Given the description of an element on the screen output the (x, y) to click on. 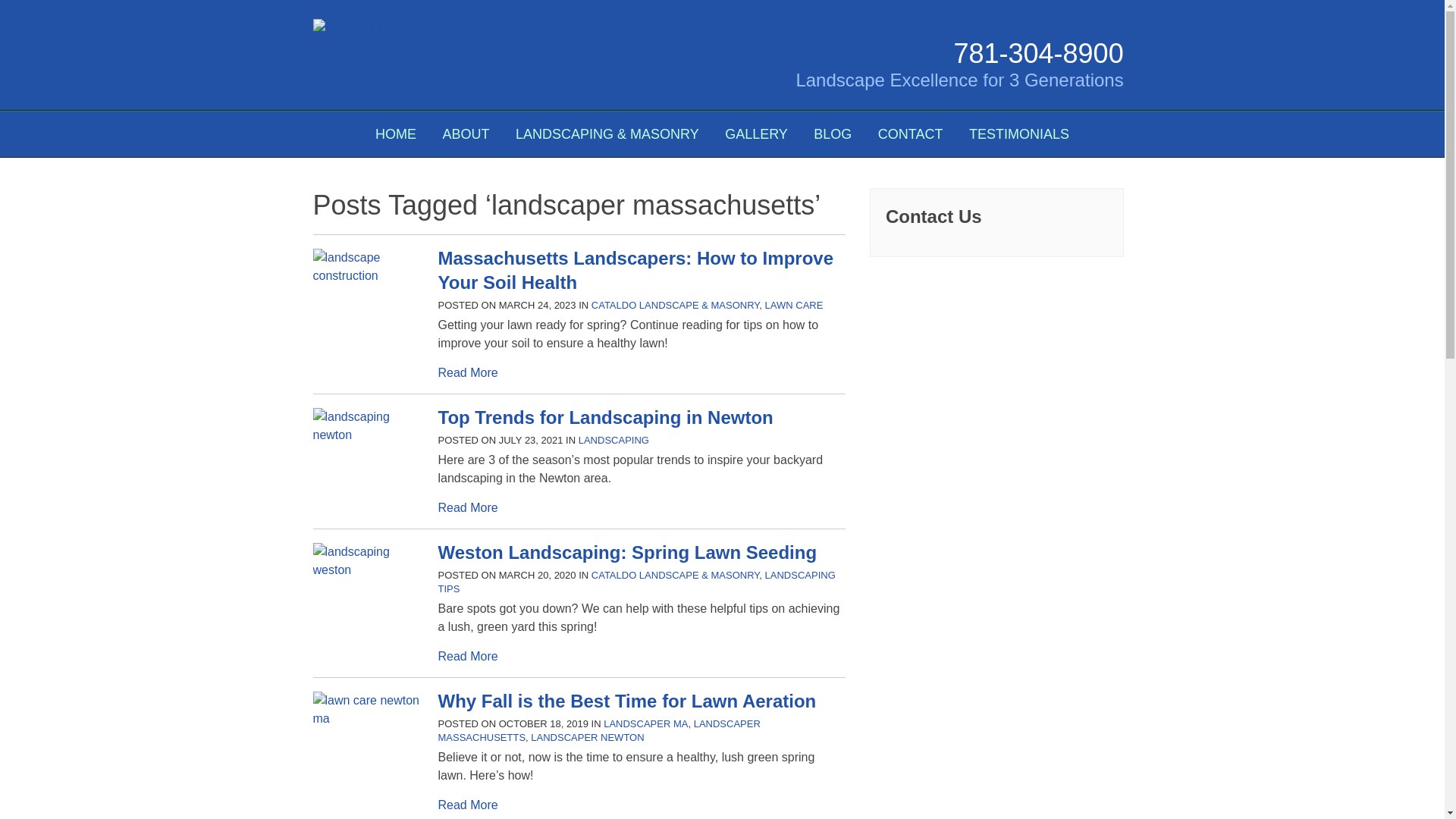
Massachusetts Landscapers: How to Improve Your Soil Health (635, 270)
Top Trends for Landscaping in Newton (605, 417)
GALLERY (756, 134)
LANDSCAPER MA (645, 723)
LANDSCAPER NEWTON (587, 737)
LANDSCAPING TIPS (636, 581)
Weston Landscaping: Spring Lawn Seeding (627, 552)
Read More (467, 372)
Massachusetts Landscapers: How to Improve Your Soil Health (369, 275)
HOME (395, 134)
